Given the description of an element on the screen output the (x, y) to click on. 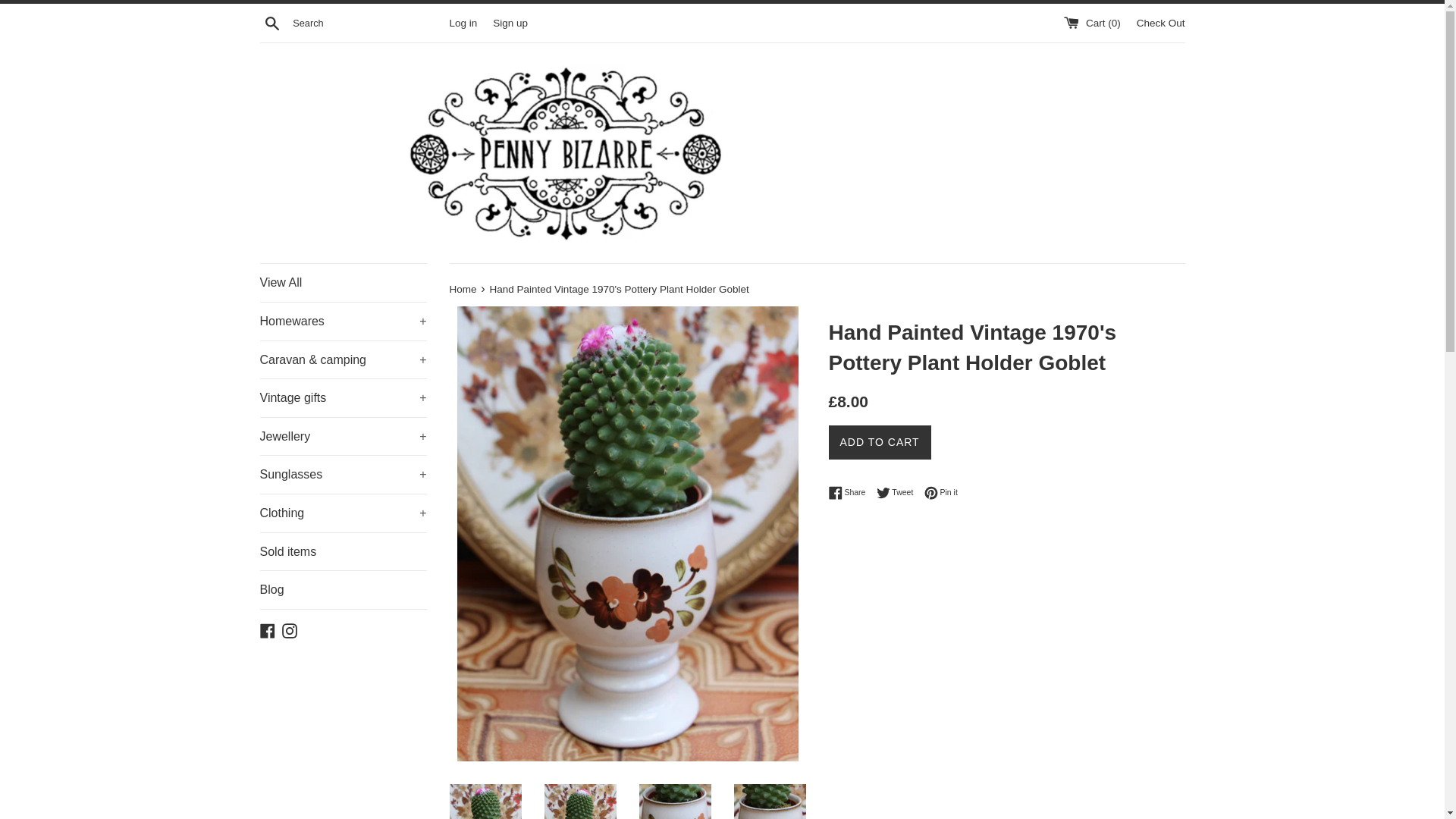
Share on Facebook (850, 492)
Pin on Pinterest (941, 492)
Penny Bizarre on Facebook (267, 629)
Log in (462, 21)
View All (342, 282)
Check Out (1161, 21)
Penny Bizarre on Instagram (289, 629)
Back to the frontpage (463, 288)
Search (271, 21)
Tweet on Twitter (898, 492)
Sign up (510, 21)
